Given the description of an element on the screen output the (x, y) to click on. 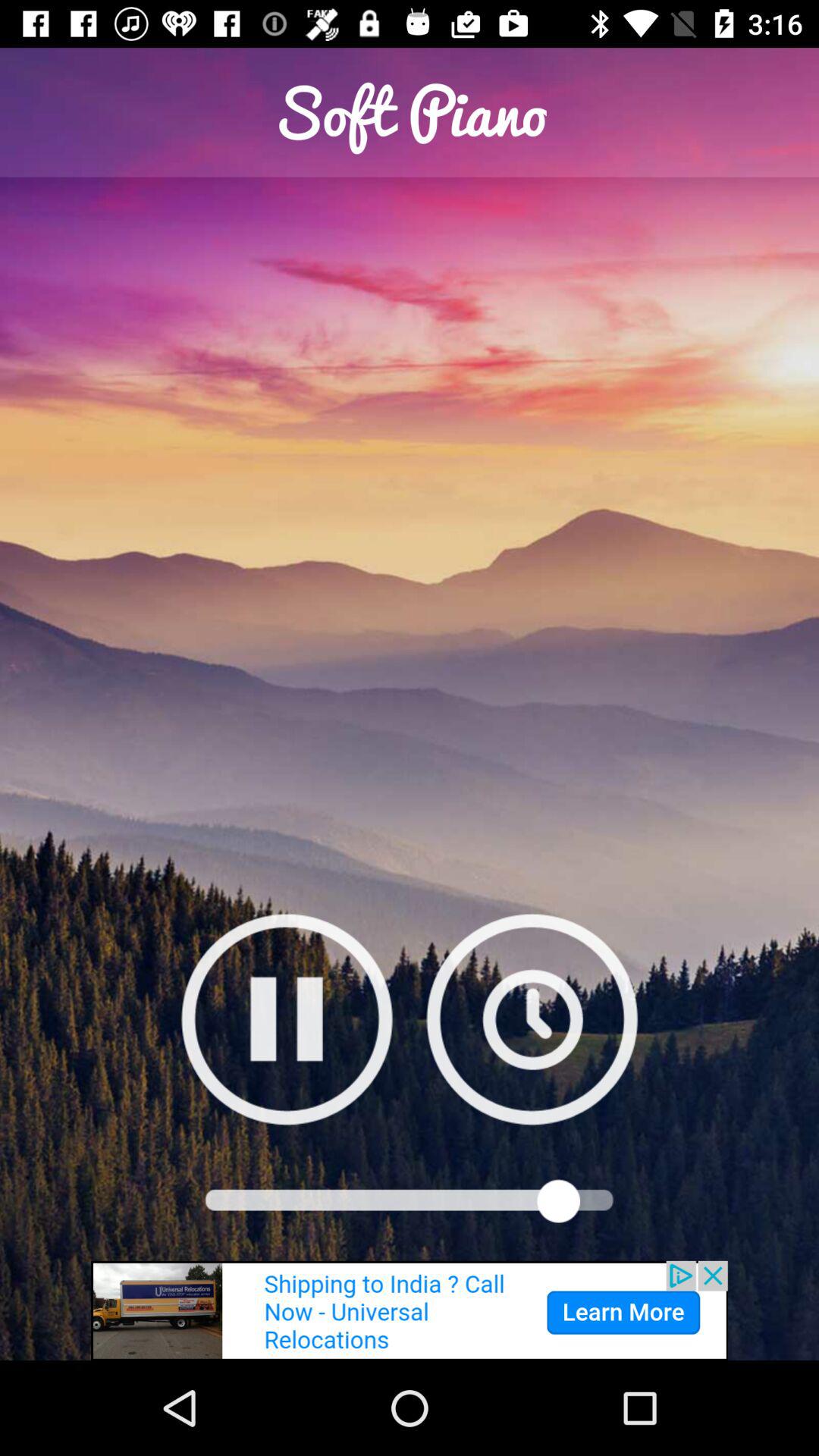
pause playback (286, 1018)
